Given the description of an element on the screen output the (x, y) to click on. 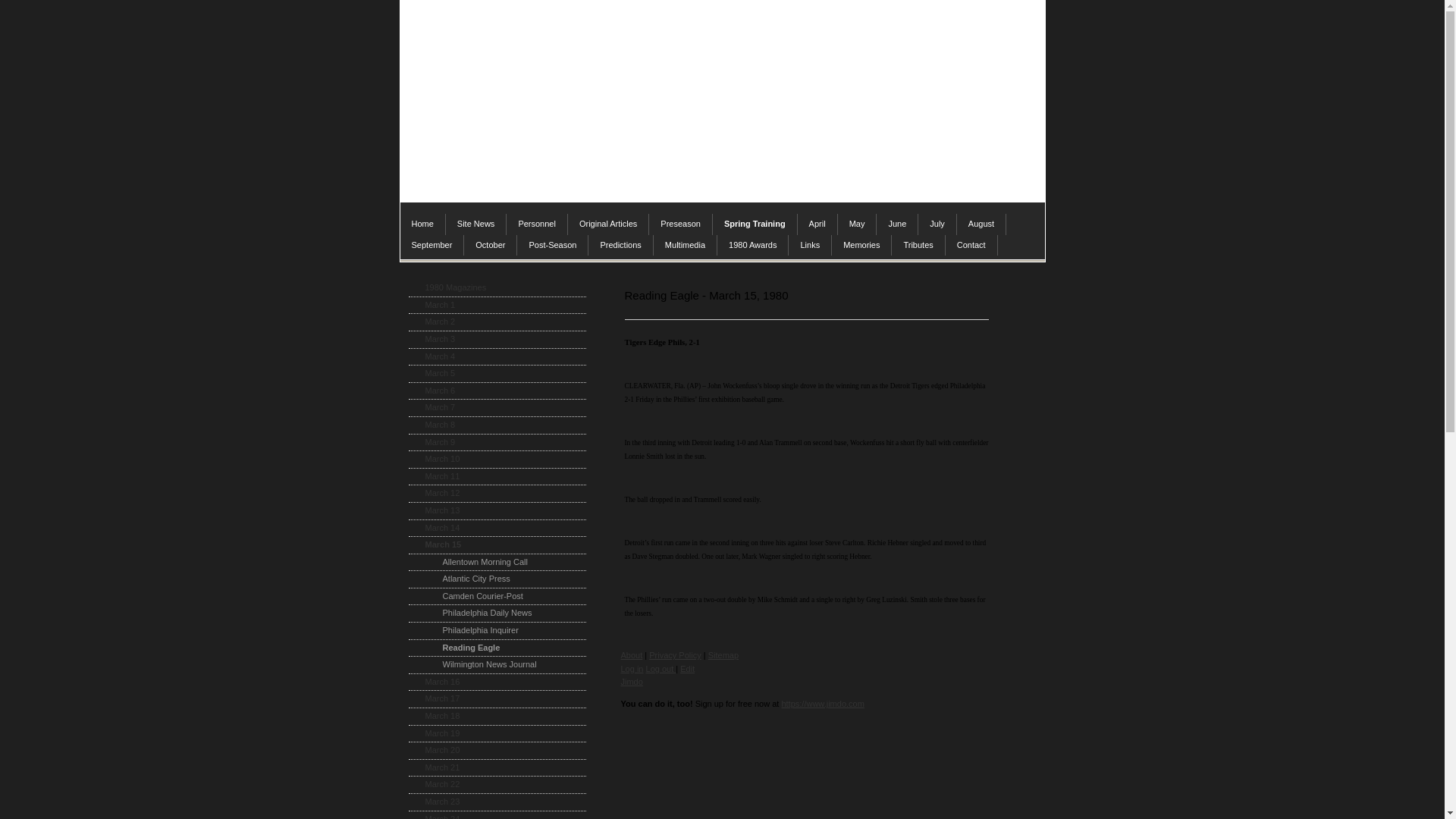
Predictions (620, 245)
March 4 (496, 357)
March 11 (496, 477)
Tributes (917, 245)
August (981, 224)
Allentown Morning Call (496, 562)
March 1 (496, 305)
Contact (970, 245)
Original Articles (608, 224)
Spring Training (755, 224)
March 10 (496, 459)
March 13 (496, 511)
Preseason (681, 224)
Home (422, 224)
March 8 (496, 425)
